Given the description of an element on the screen output the (x, y) to click on. 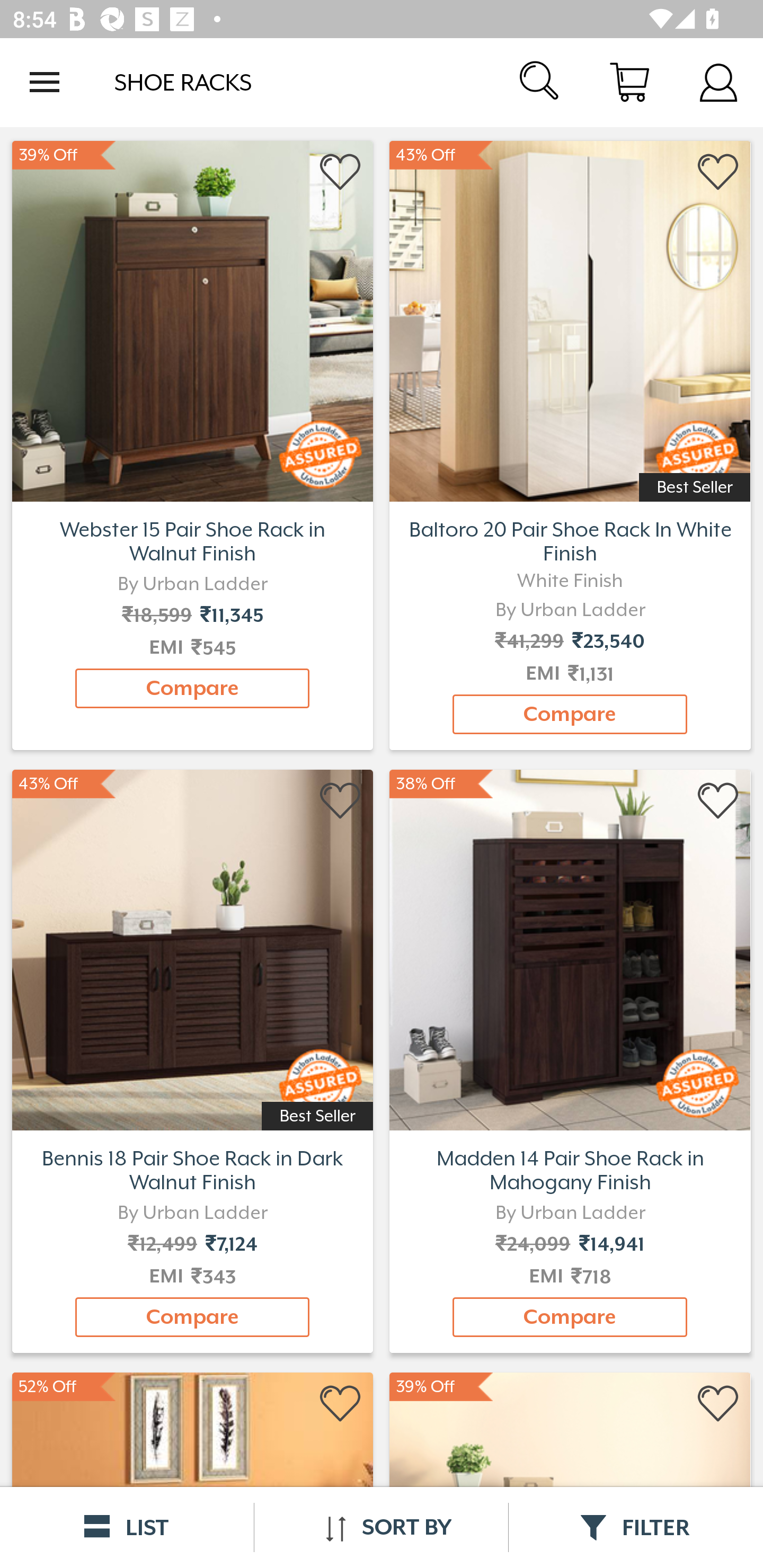
Open navigation drawer (44, 82)
Search (540, 81)
Cart (629, 81)
Account Details (718, 81)
 (341, 172)
 (718, 172)
Compare (192, 687)
Compare (569, 713)
 (341, 800)
 (718, 800)
Compare (192, 1316)
Compare (569, 1316)
 (341, 1404)
 (718, 1404)
 LIST (127, 1527)
SORT BY (381, 1527)
 FILTER (635, 1527)
